Given the description of an element on the screen output the (x, y) to click on. 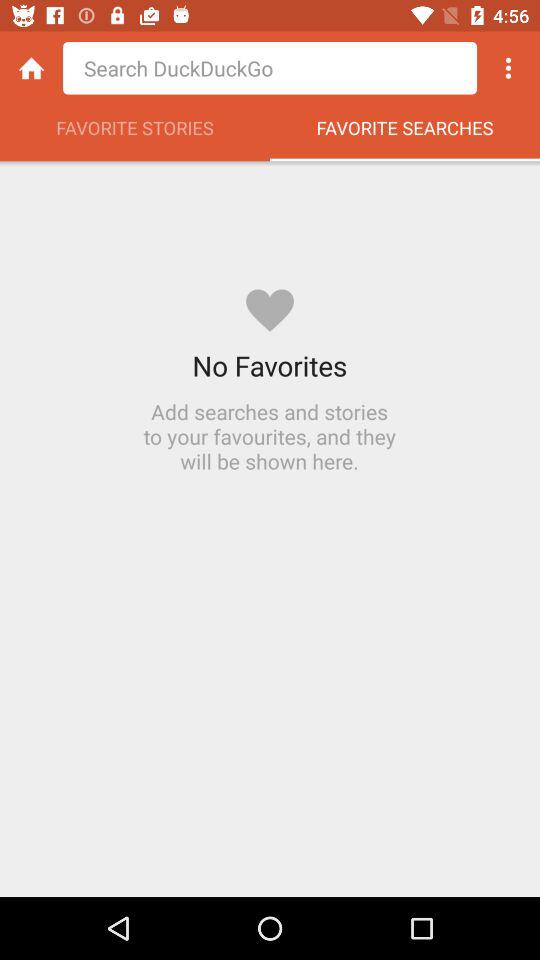
the option point search something (270, 68)
